Given the description of an element on the screen output the (x, y) to click on. 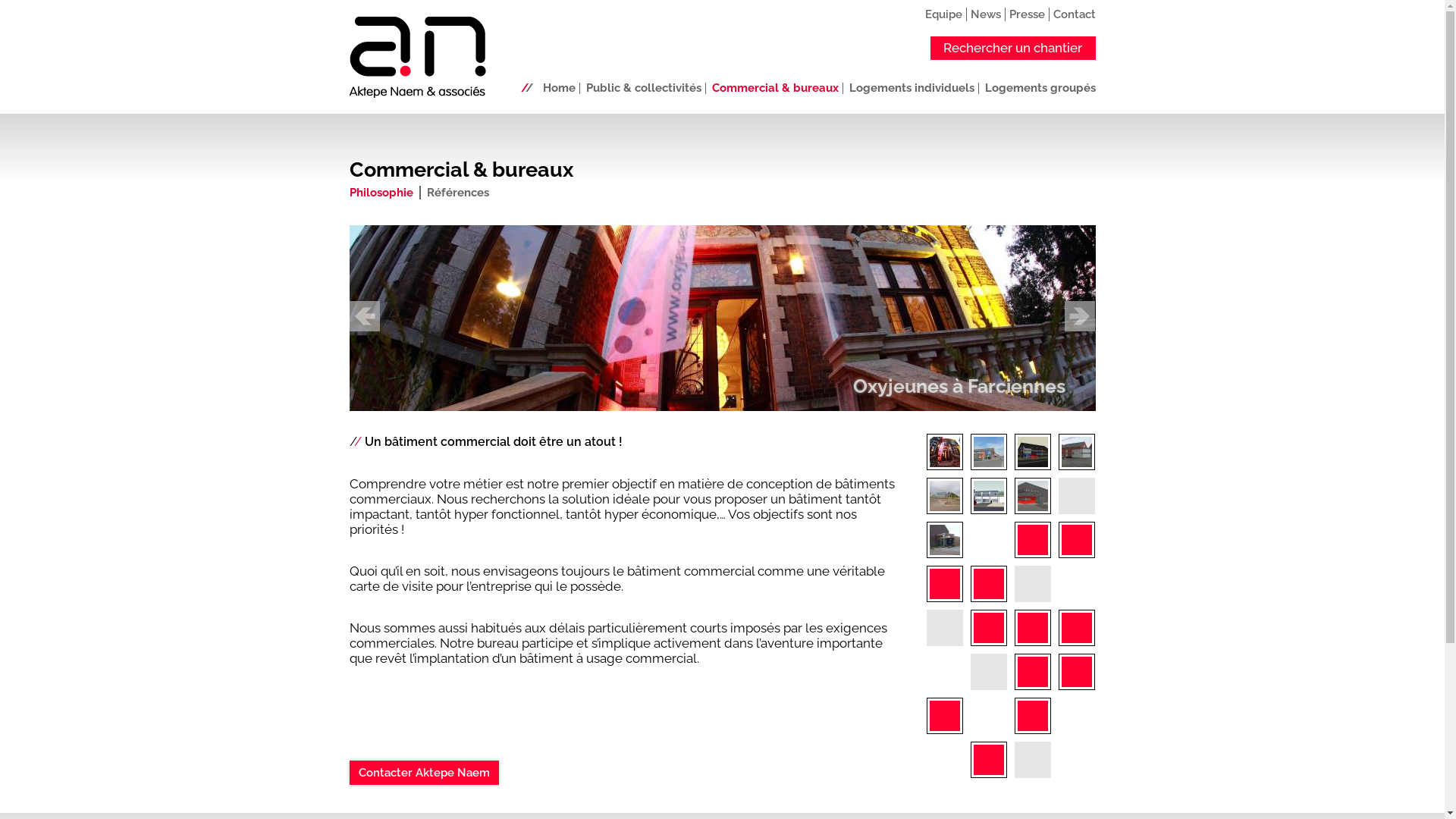
Home Element type: text (558, 87)
Equipe Element type: text (943, 13)
Presse Element type: text (1026, 13)
News Element type: text (985, 13)
Commercial & bureaux Element type: text (774, 87)
Contact Element type: text (1073, 13)
Philosophie Element type: text (380, 192)
Logements individuels Element type: text (911, 87)
Contacter Aktepe Naem Element type: text (423, 772)
